Given the description of an element on the screen output the (x, y) to click on. 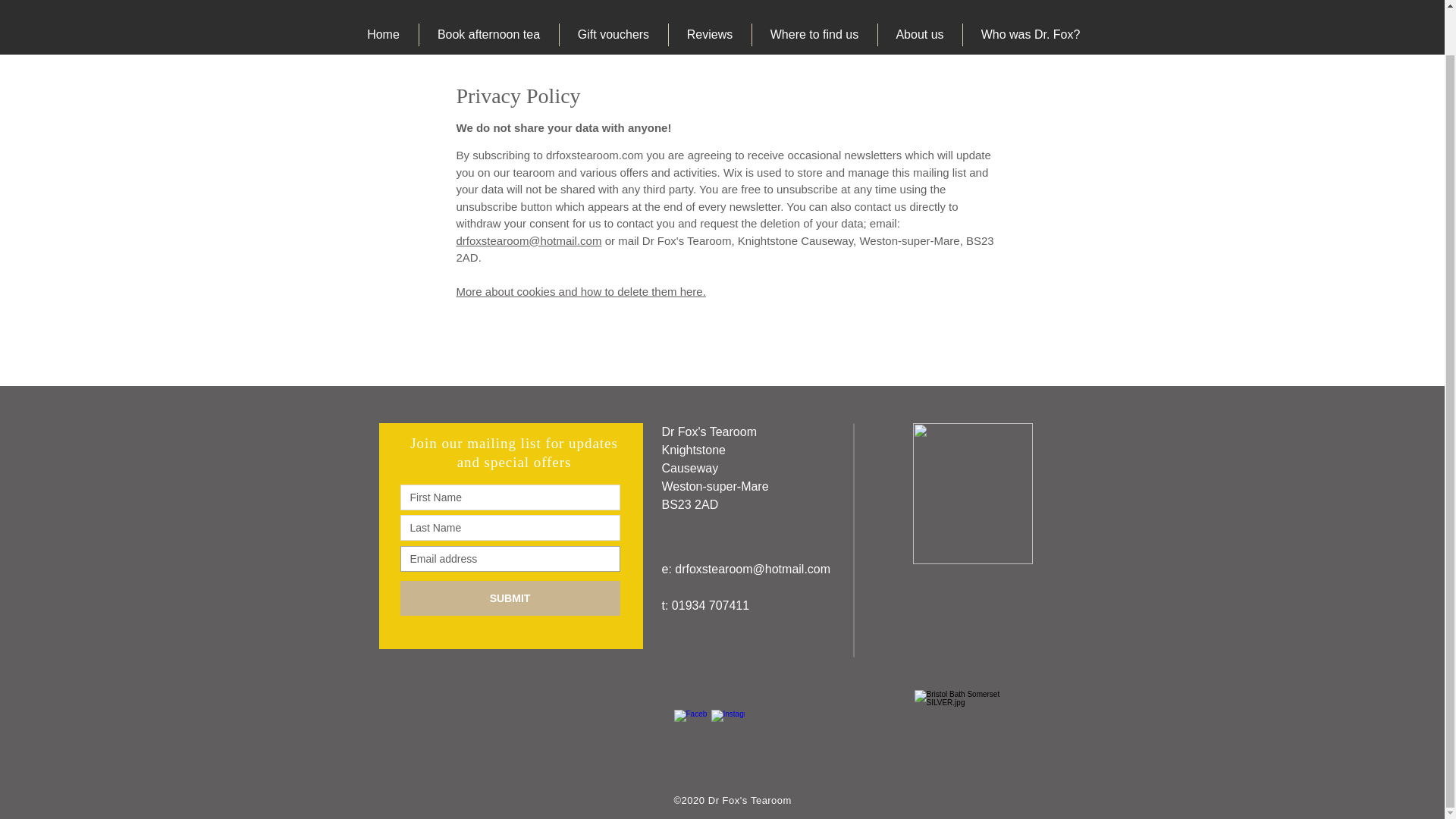
SUBMIT (510, 597)
More about cookies and how to delete them here. (581, 291)
